Given the description of an element on the screen output the (x, y) to click on. 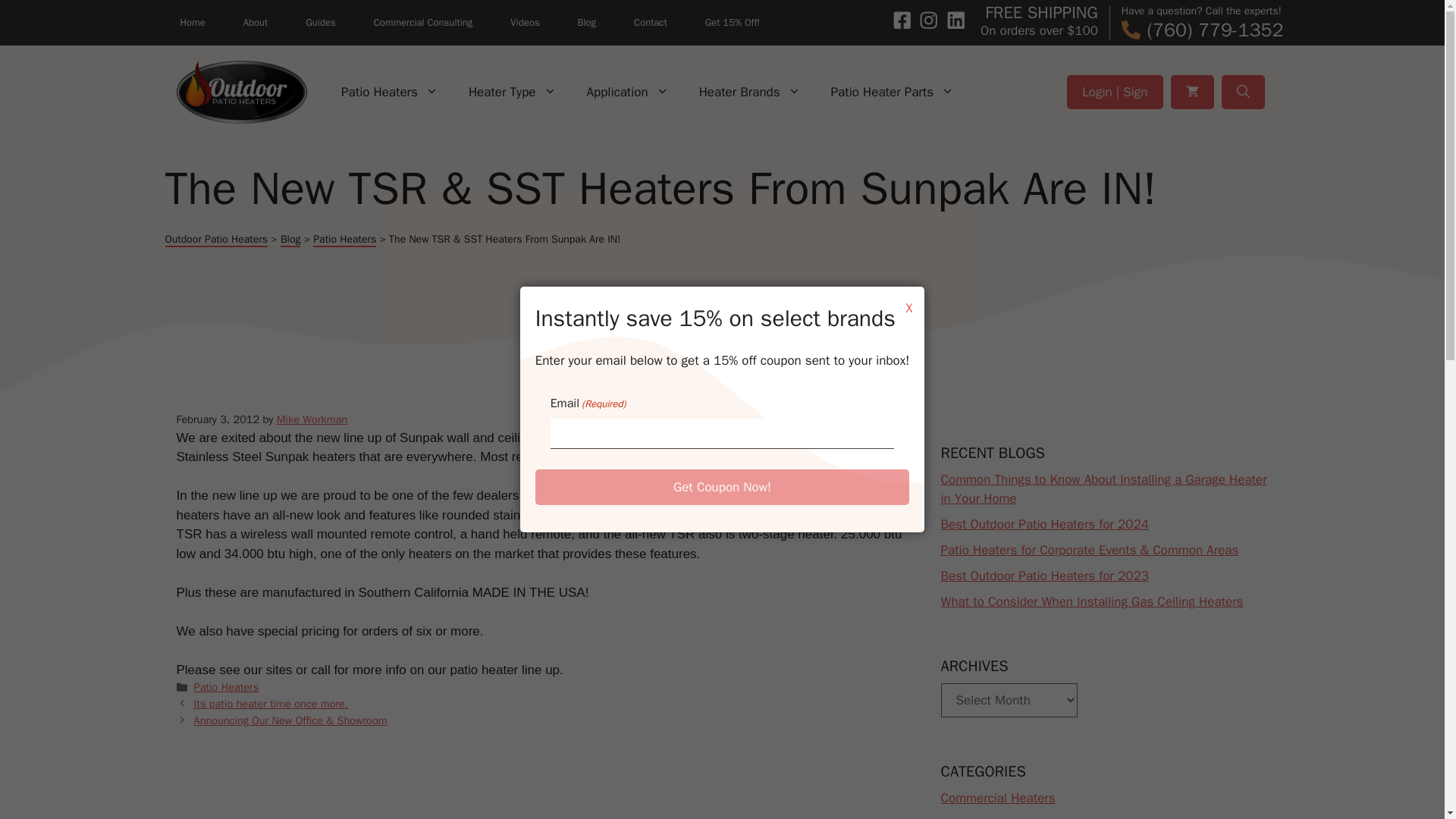
X (909, 308)
Home (193, 22)
Guides (319, 22)
Commercial Consulting (422, 22)
Application (628, 91)
View your shopping cart (1192, 91)
Blog (586, 22)
Get Coupon Now! (722, 486)
Heater Type (512, 91)
Videos (524, 22)
Get Coupon Now! (722, 486)
View all posts by Mike Workman (311, 418)
About (255, 22)
Contact (650, 22)
Heater Brands (749, 91)
